Given the description of an element on the screen output the (x, y) to click on. 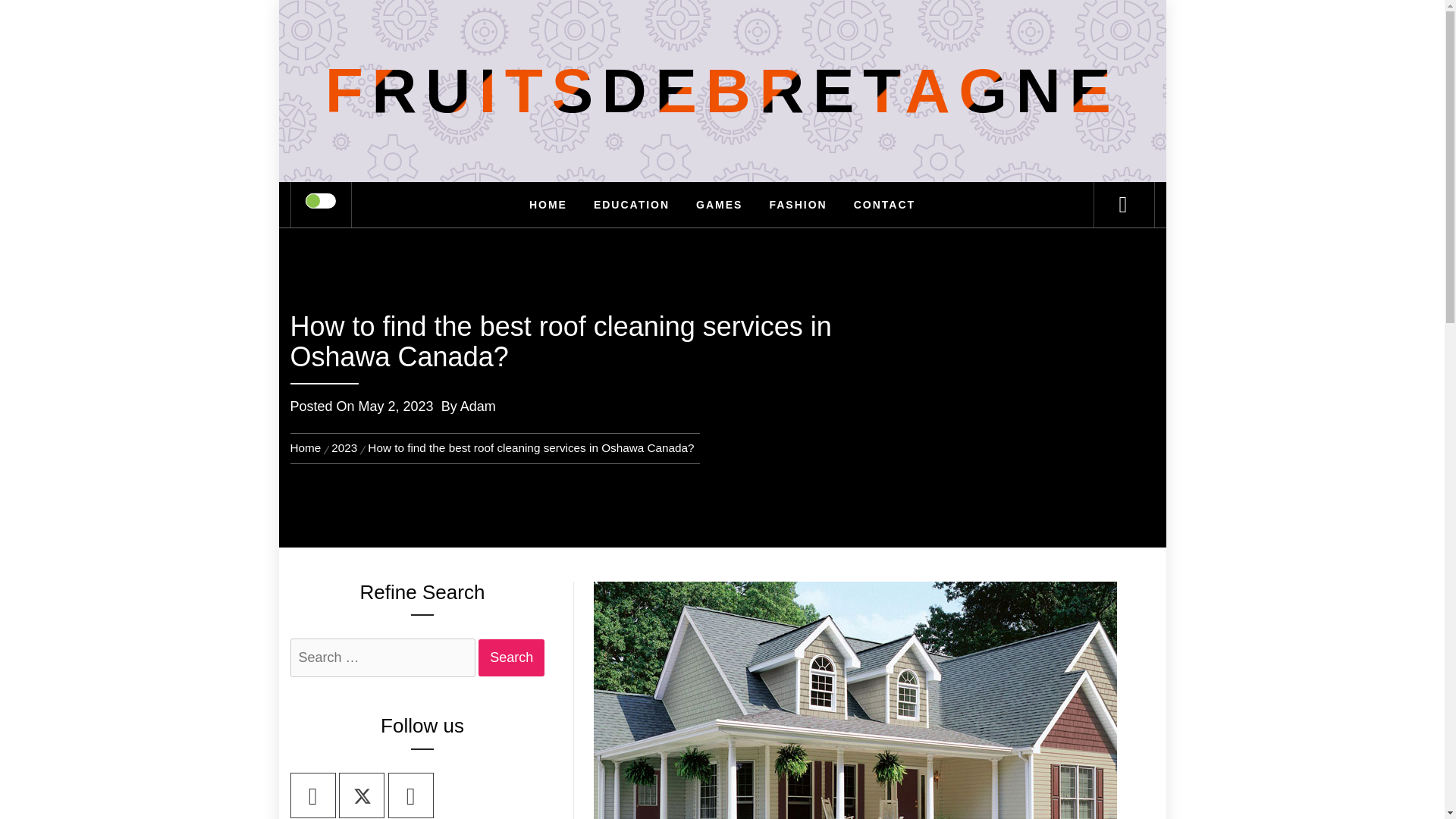
Home (307, 447)
May 2, 2023 (395, 406)
CONTACT (884, 204)
FRUITSDEBRETAGNE (721, 90)
HOME (548, 204)
2023 (344, 447)
Search (511, 657)
Search (511, 657)
GAMES (719, 204)
FASHION (797, 204)
EDUCATION (631, 204)
Search (511, 657)
Search (797, 33)
Adam (478, 406)
